Given the description of an element on the screen output the (x, y) to click on. 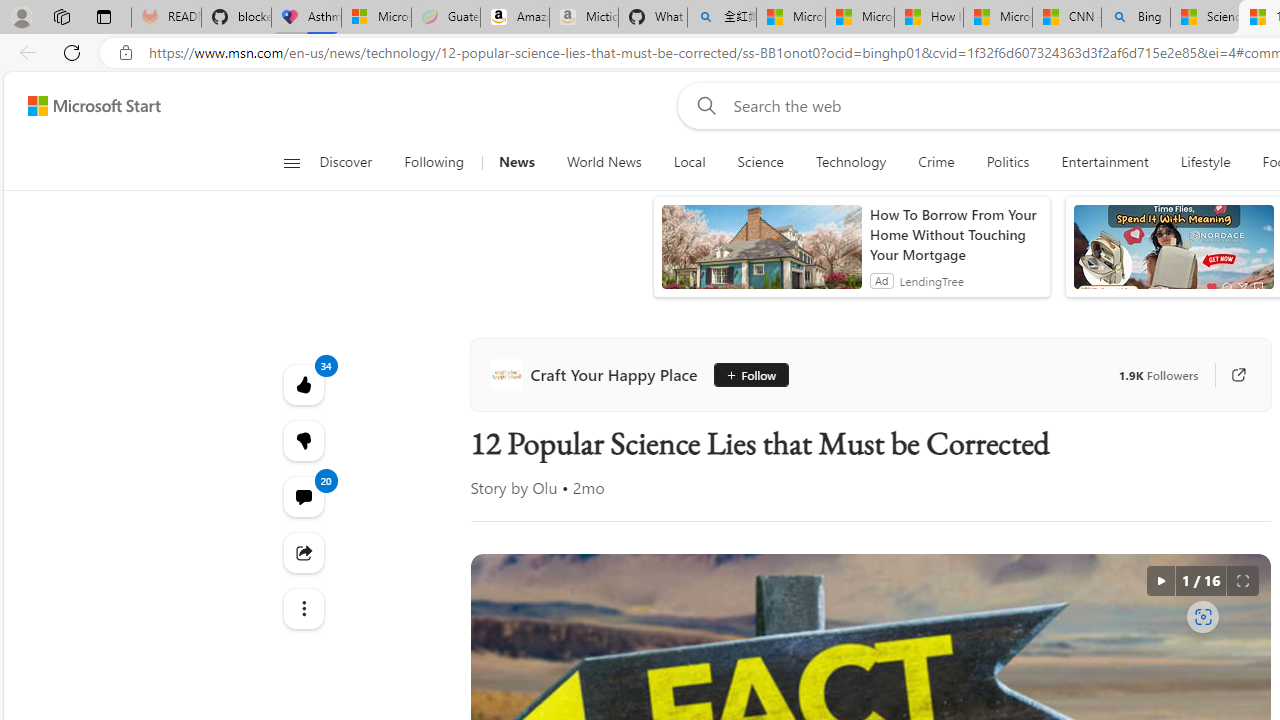
Asthma Inhalers: Names and Types (305, 17)
How I Got Rid of Microsoft Edge's Unnecessary Features (928, 17)
Full screen (1242, 580)
